Given the description of an element on the screen output the (x, y) to click on. 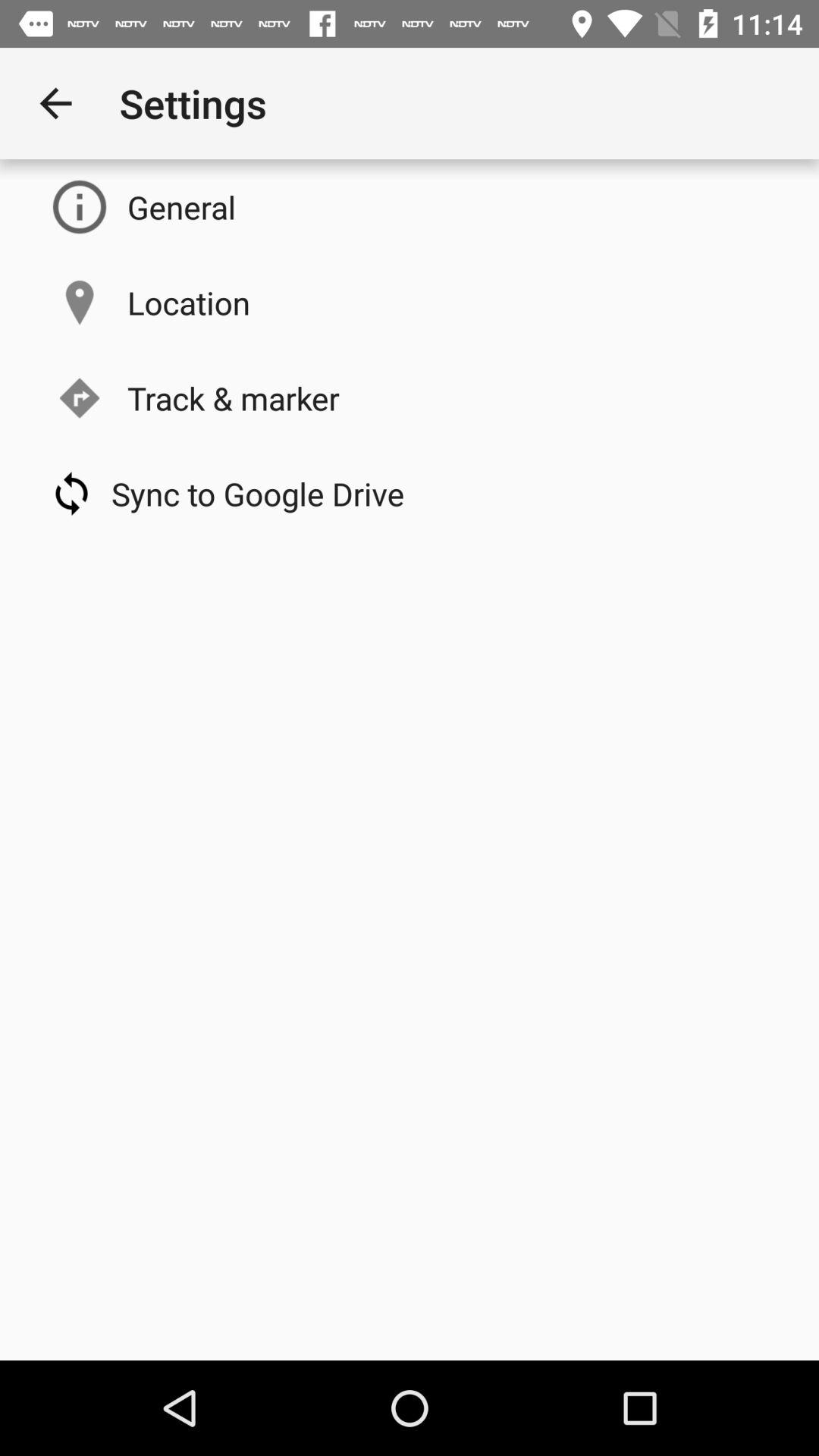
turn off icon below the location (233, 397)
